Given the description of an element on the screen output the (x, y) to click on. 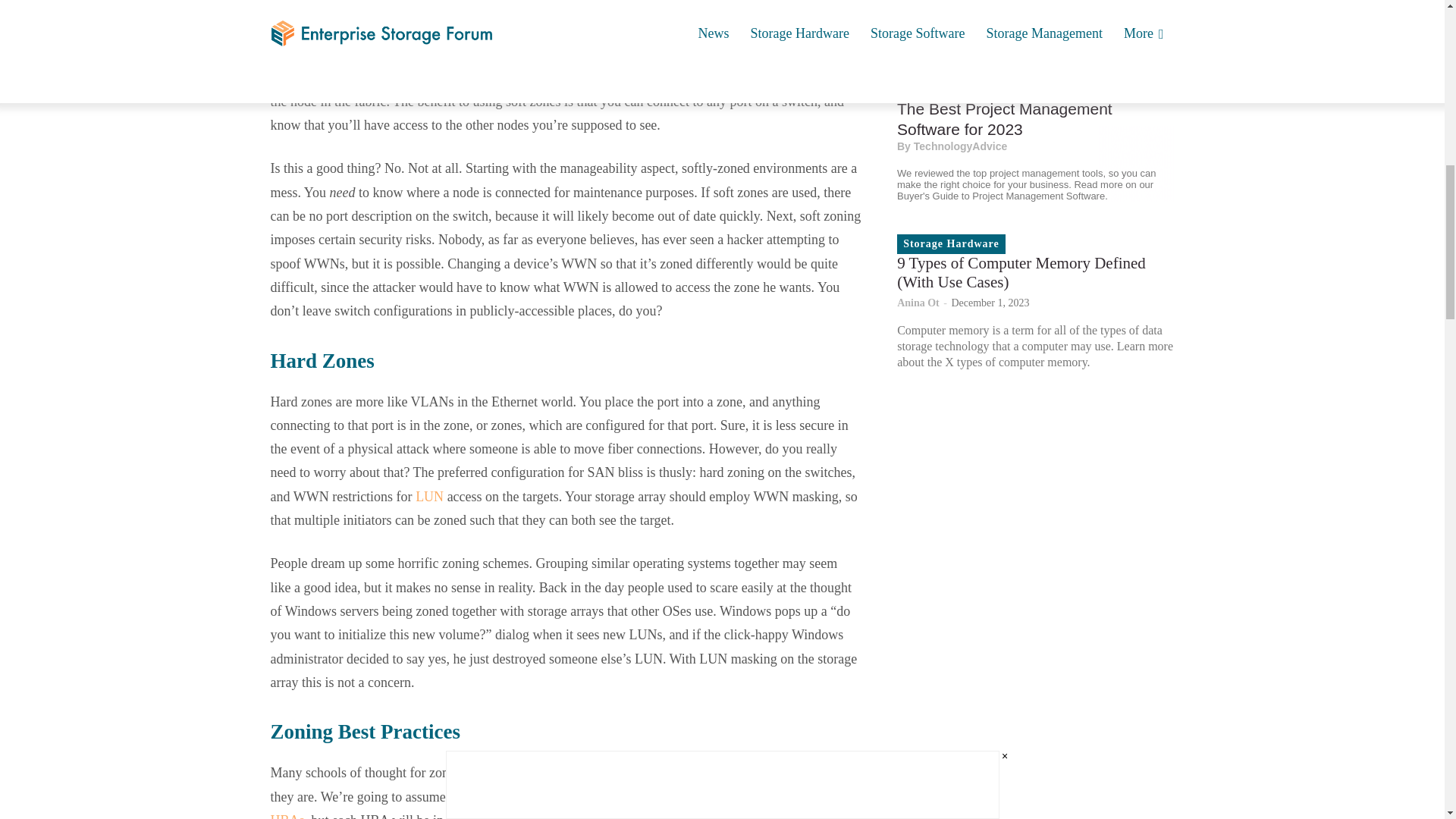
HBAs (286, 816)
LUN (429, 496)
